Given the description of an element on the screen output the (x, y) to click on. 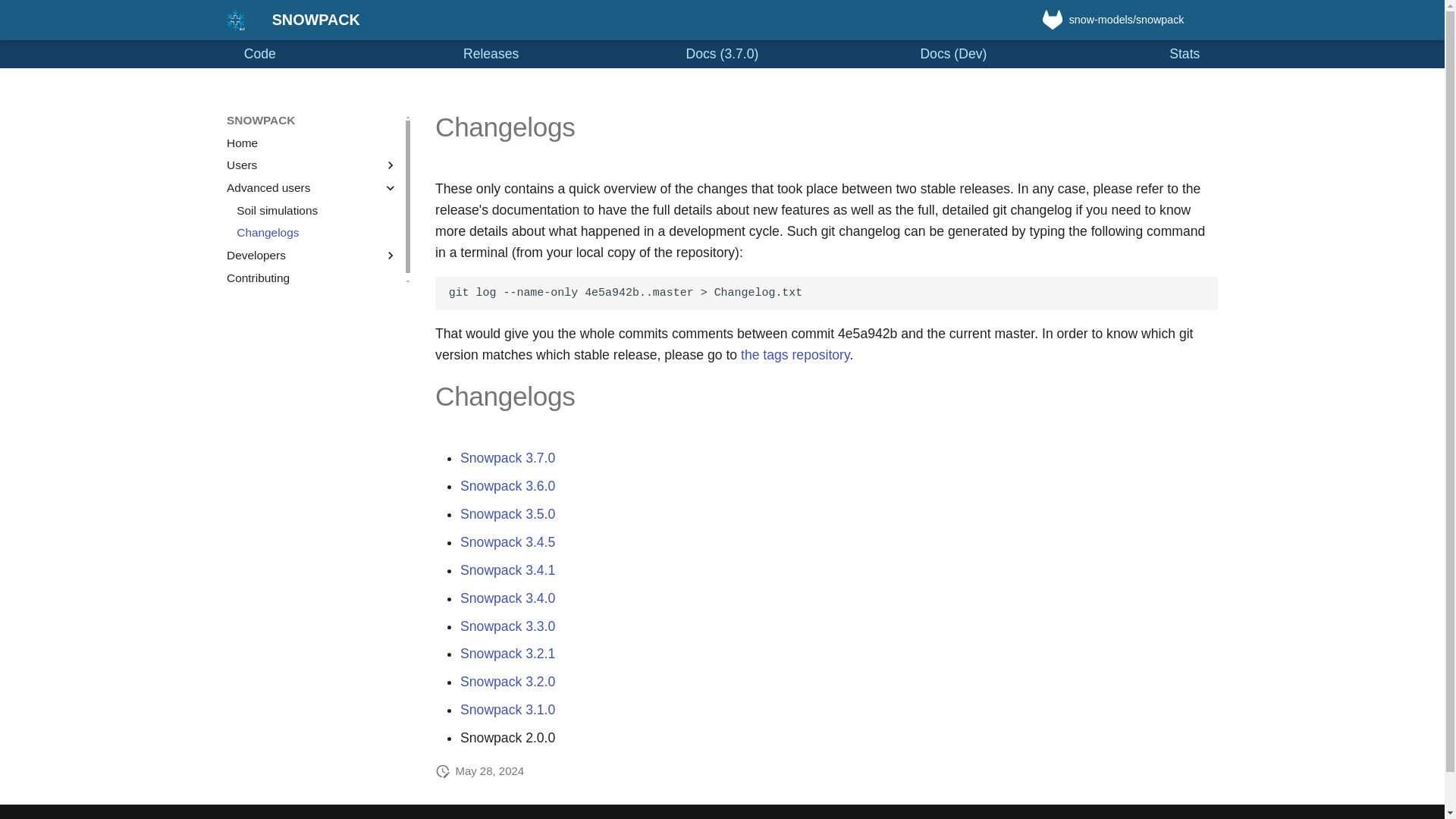
Snowpack 3.1.0 (507, 709)
Snowpack 3.2.1 (507, 653)
Snowpack 3.7.0 (507, 458)
the tags repository (794, 354)
Home (312, 142)
stats (1207, 818)
Changelogs (316, 232)
Snowpack 3.5.0 (507, 513)
Soil simulations (316, 210)
